Given the description of an element on the screen output the (x, y) to click on. 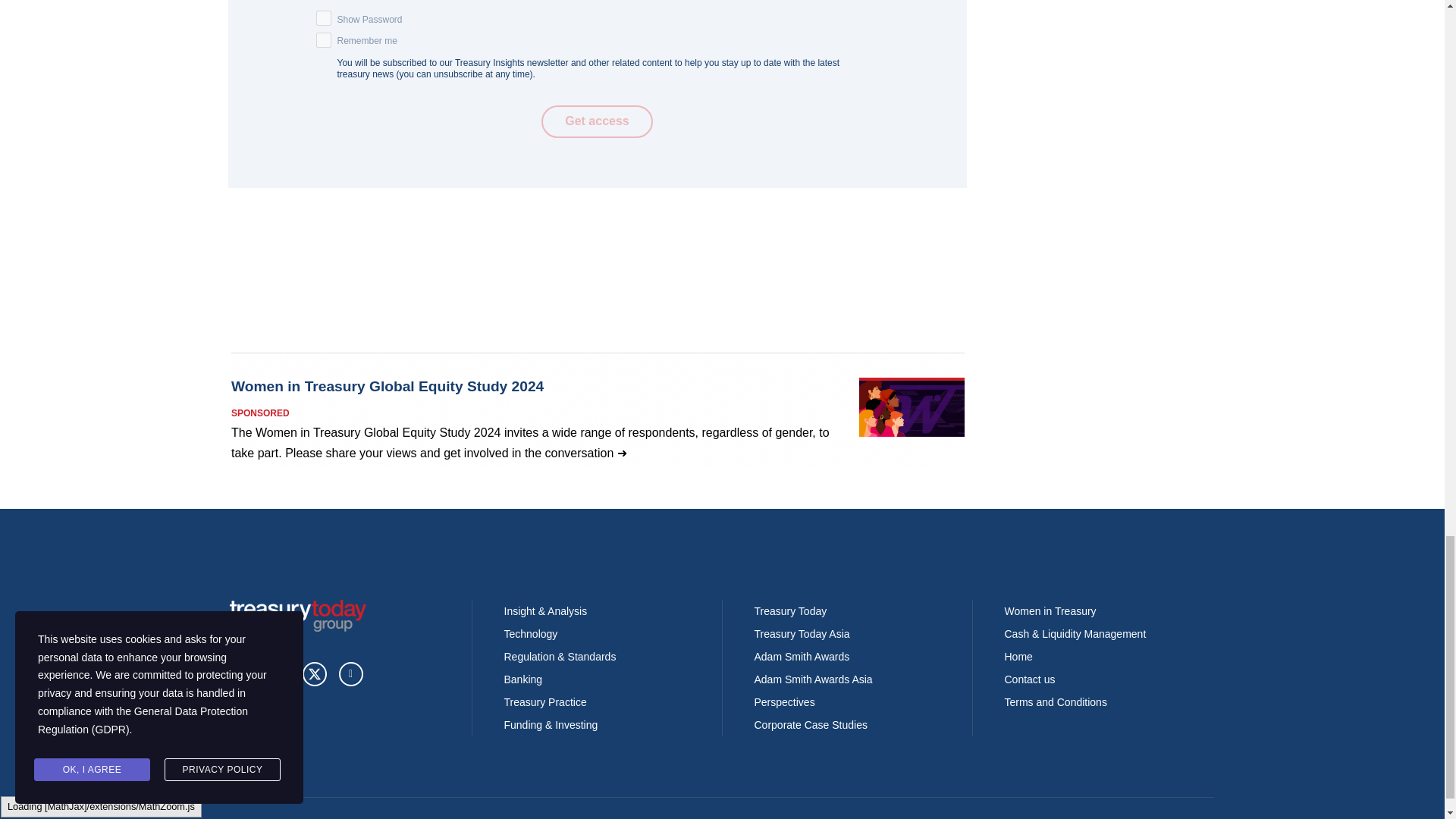
3rd party ad content (596, 409)
on (322, 17)
on (322, 39)
